Given the description of an element on the screen output the (x, y) to click on. 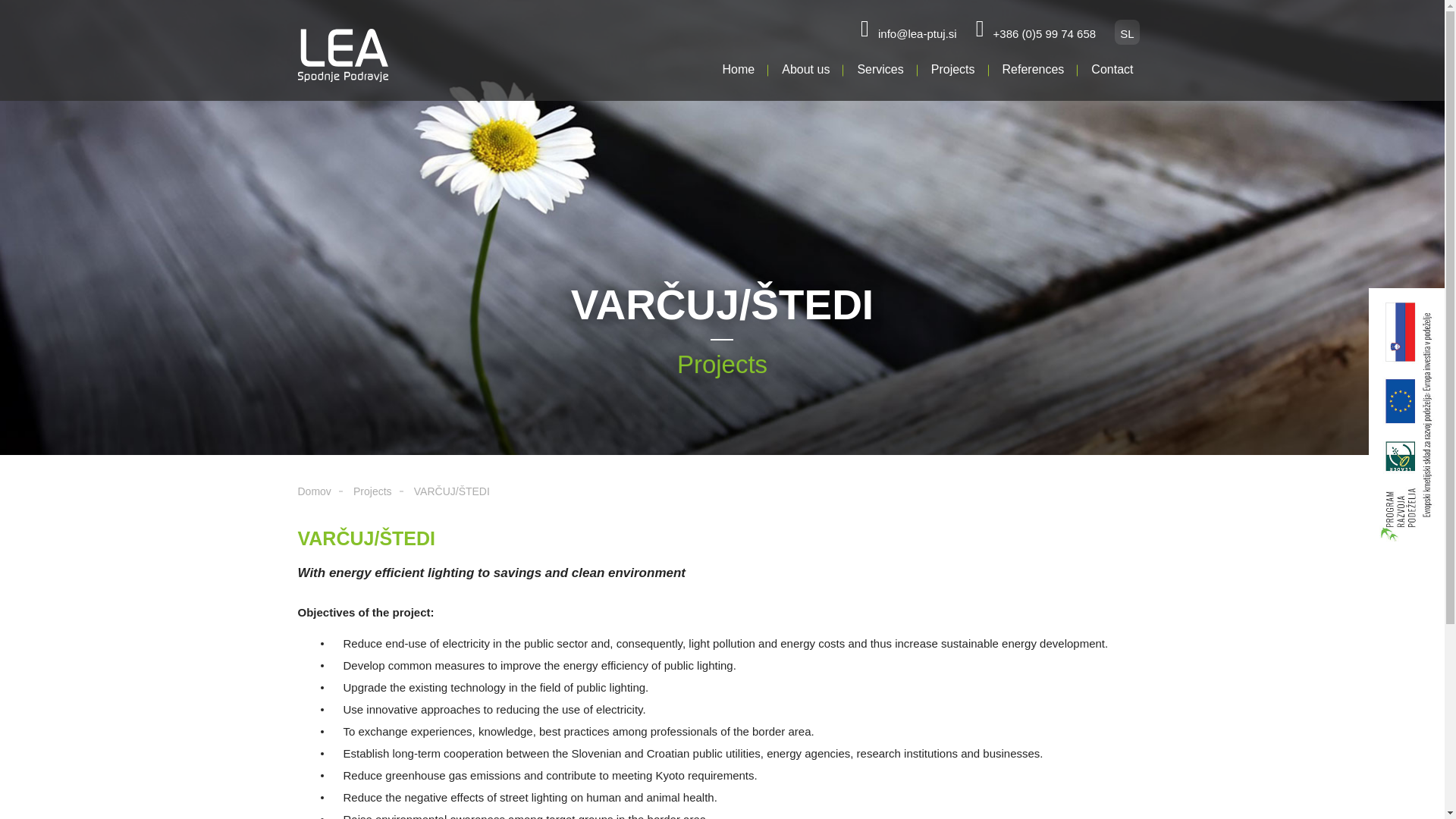
Energetsko knjigovodstvo (1076, 615)
About us (805, 70)
Lokalni energetski koncept (1079, 560)
DETOCS (707, 560)
CEESEU (707, 633)
References (1033, 70)
Energetske izkaznice (1065, 633)
Home (739, 70)
Services (879, 70)
SEAP (1026, 578)
Projects (953, 70)
CSSC LAb (711, 615)
SL (1126, 32)
ARMDESIGN (1112, 797)
Aktualno (710, 670)
